Given the description of an element on the screen output the (x, y) to click on. 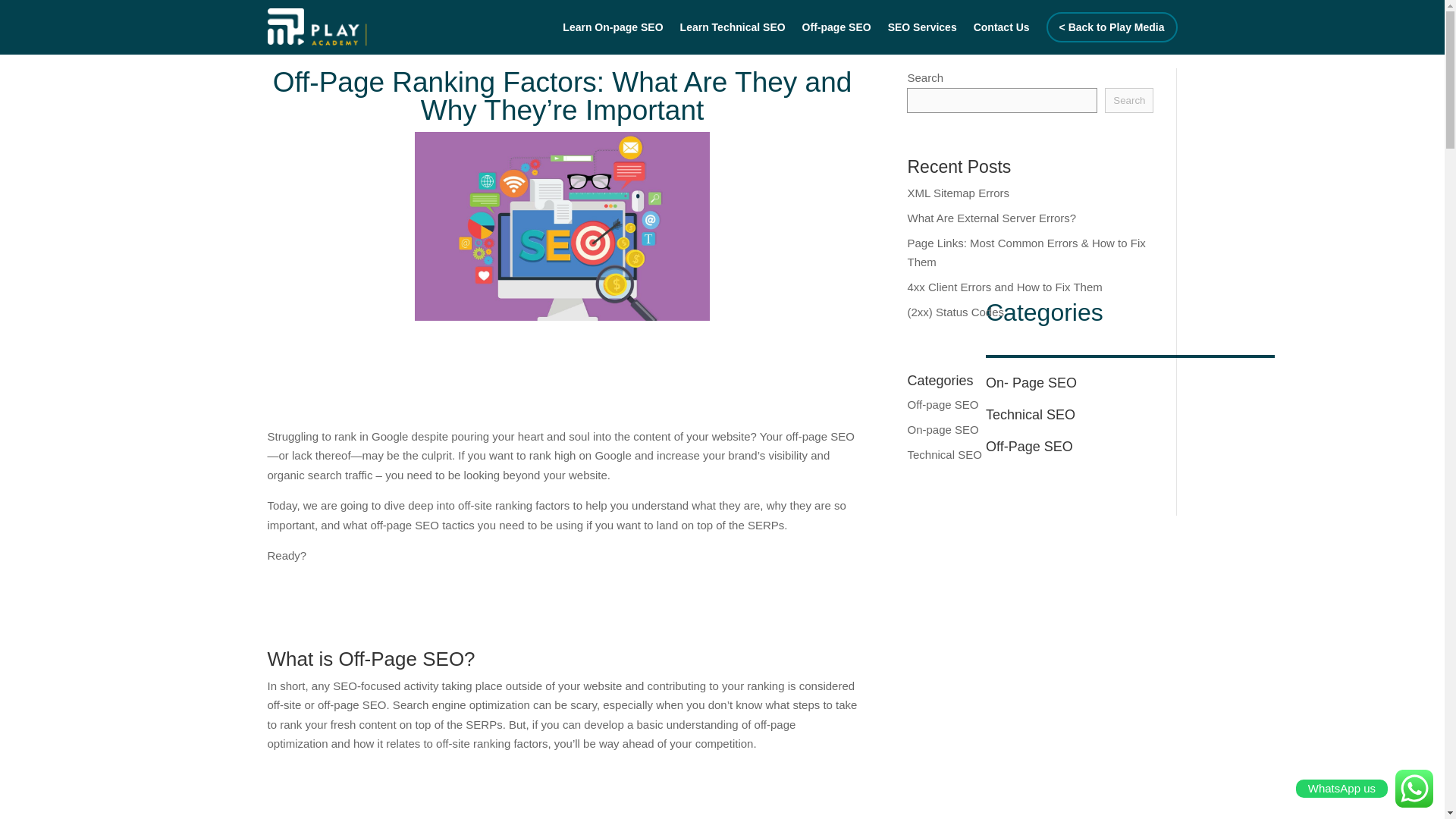
SEO Services (922, 30)
Off-page SEO (836, 30)
XML Sitemap Errors (958, 192)
Learn On-page SEO (612, 30)
Learn Technical SEO (732, 30)
Contact Us (1001, 30)
PM Academy (316, 26)
Off-page SEO (942, 403)
Technical SEO (1030, 413)
Search (1129, 100)
Technical SEO (944, 453)
On-page SEO (942, 429)
Off-Page SEO (1029, 445)
What Are External Server Errors? (991, 217)
4xx Client Errors and How to Fix Them (1004, 286)
